Given the description of an element on the screen output the (x, y) to click on. 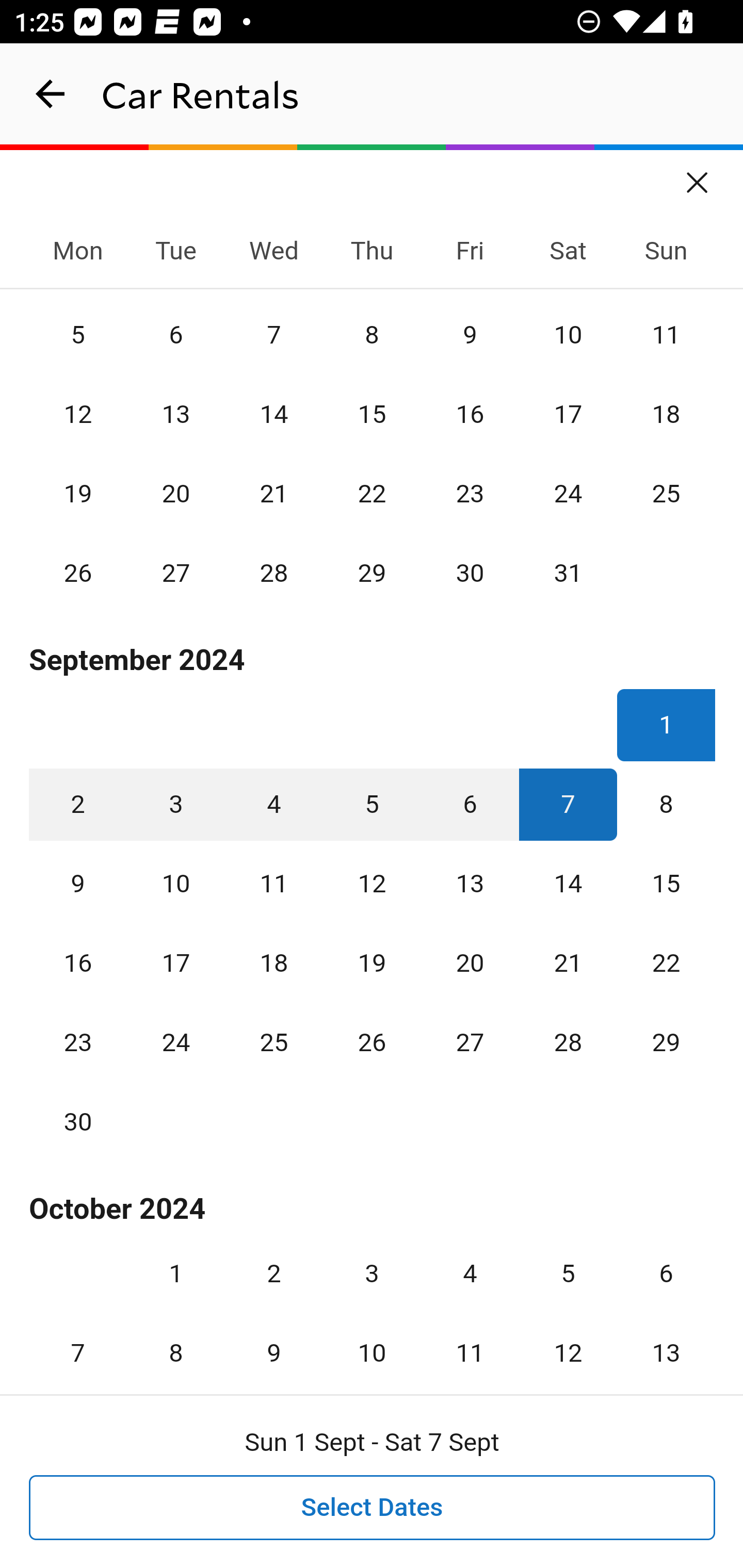
navigation_button (50, 93)
Close (697, 176)
5 August 2024 (77, 334)
6 August 2024 (175, 334)
7 August 2024 (273, 334)
8 August 2024 (371, 334)
9 August 2024 (470, 334)
10 August 2024 (567, 334)
11 August 2024 (665, 334)
12 August 2024 (77, 414)
13 August 2024 (175, 414)
14 August 2024 (273, 414)
15 August 2024 (371, 414)
16 August 2024 (470, 414)
17 August 2024 (567, 414)
18 August 2024 (665, 414)
19 August 2024 (77, 492)
20 August 2024 (175, 492)
21 August 2024 (273, 492)
22 August 2024 (371, 492)
23 August 2024 (470, 492)
24 August 2024 (567, 492)
25 August 2024 (665, 492)
26 August 2024 (77, 572)
27 August 2024 (175, 572)
28 August 2024 (273, 572)
29 August 2024 (371, 572)
30 August 2024 (470, 572)
31 August 2024 (567, 572)
1 September 2024 (665, 725)
2 September 2024 (77, 804)
3 September 2024 (175, 804)
4 September 2024 (273, 804)
5 September 2024 (371, 804)
6 September 2024 (470, 804)
7 September 2024 (567, 804)
8 September 2024 (665, 804)
9 September 2024 (77, 883)
10 September 2024 (175, 883)
11 September 2024 (273, 883)
12 September 2024 (371, 883)
13 September 2024 (470, 883)
14 September 2024 (567, 883)
15 September 2024 (665, 883)
16 September 2024 (77, 963)
17 September 2024 (175, 963)
18 September 2024 (273, 963)
19 September 2024 (371, 963)
20 September 2024 (470, 963)
21 September 2024 (567, 963)
22 September 2024 (665, 963)
23 September 2024 (77, 1041)
24 September 2024 (175, 1041)
25 September 2024 (273, 1041)
26 September 2024 (371, 1041)
27 September 2024 (470, 1041)
28 September 2024 (567, 1041)
29 September 2024 (665, 1041)
30 September 2024 (77, 1121)
1 October 2024 (175, 1273)
2 October 2024 (273, 1273)
3 October 2024 (371, 1273)
4 October 2024 (470, 1273)
5 October 2024 (567, 1273)
6 October 2024 (665, 1273)
7 October 2024 (77, 1341)
8 October 2024 (175, 1341)
9 October 2024 (273, 1341)
10 October 2024 (371, 1341)
11 October 2024 (470, 1341)
12 October 2024 (567, 1341)
13 October 2024 (665, 1341)
Select Dates (372, 1508)
